Given the description of an element on the screen output the (x, y) to click on. 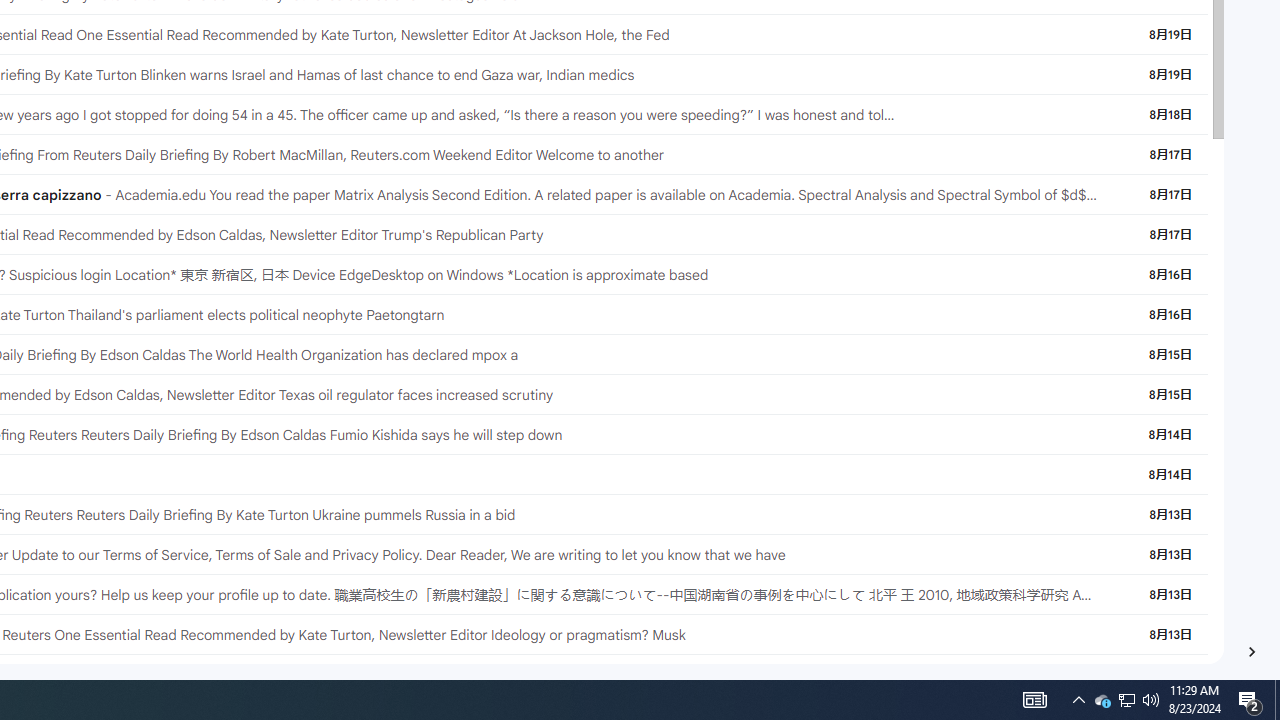
AutomationID: Layer_1 (1251, 651)
